Given the description of an element on the screen output the (x, y) to click on. 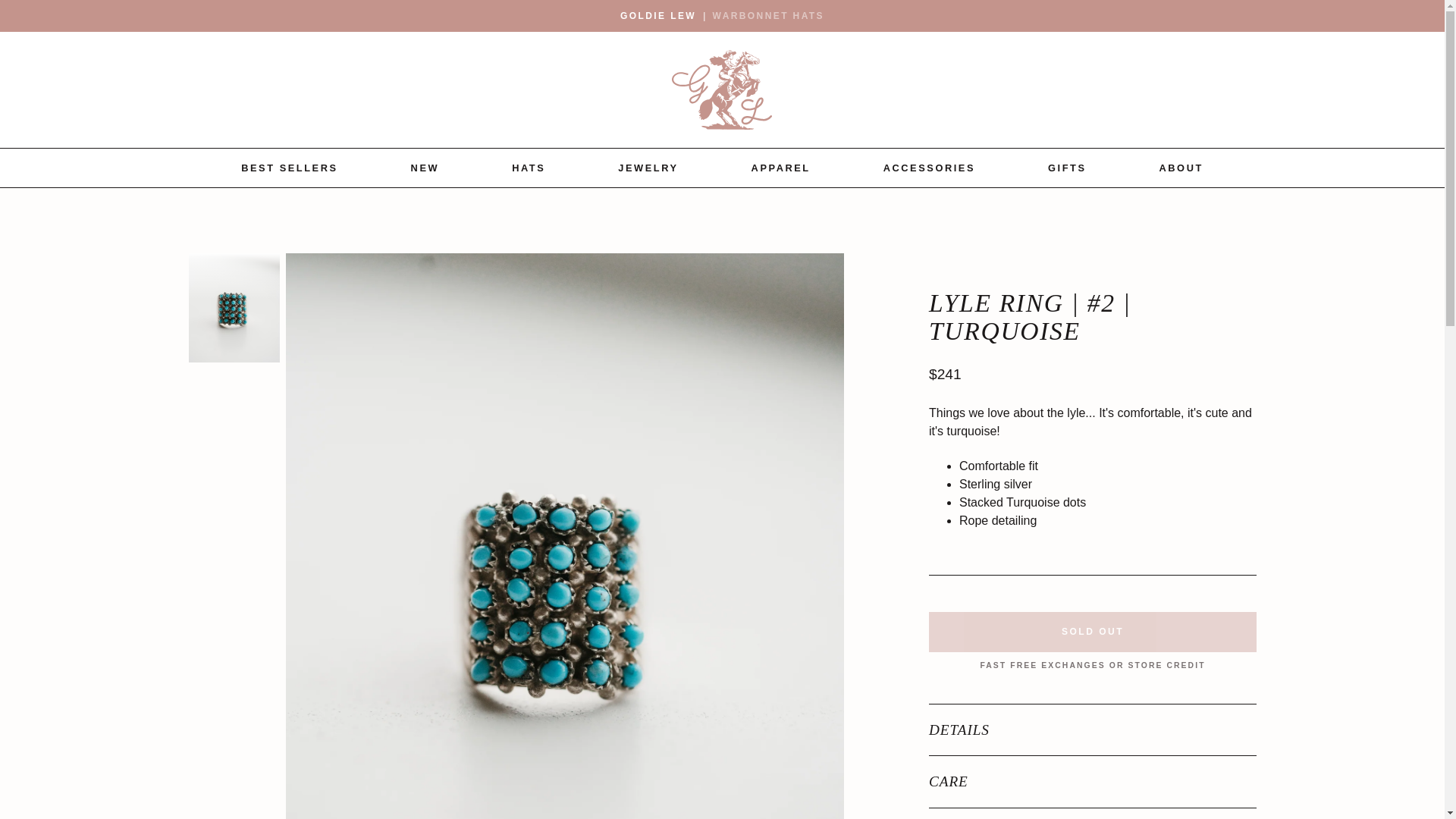
BEST SELLERS (289, 167)
SOLD OUT (1091, 630)
APPAREL (780, 167)
NEW (424, 167)
GOLDIE LEW (657, 15)
WARBONNET HATS (768, 15)
HATS (528, 167)
ACCESSORIES (929, 167)
GIFTS (1067, 167)
JEWELRY (647, 167)
